Given the description of an element on the screen output the (x, y) to click on. 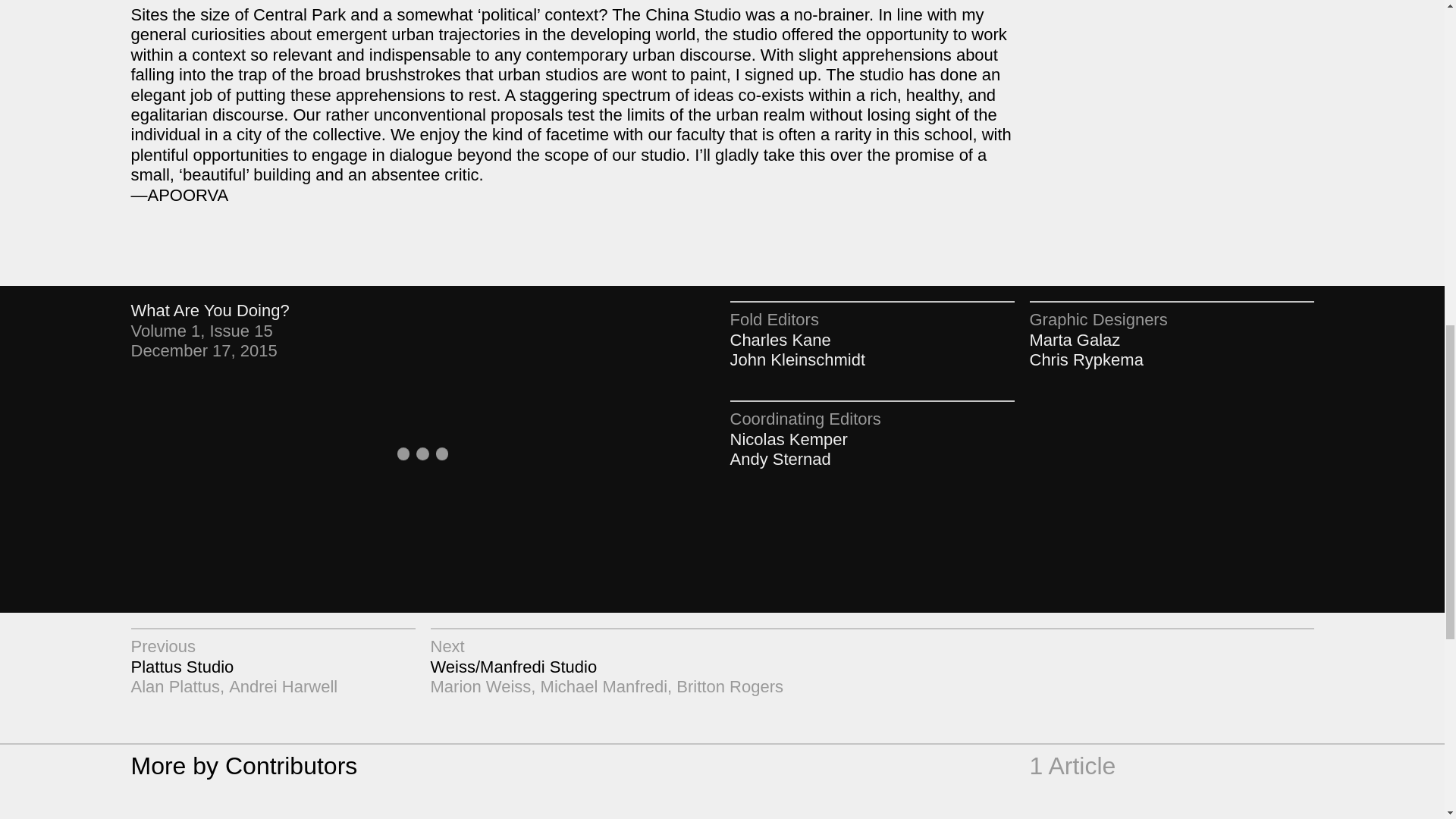
John Kleinschmidt (796, 359)
Marta Galaz (1075, 339)
Alan Plattus (175, 686)
Chris Rypkema (1085, 359)
Andy Sternad (779, 458)
Plattus Studio (181, 666)
What Are You Doing? (209, 310)
Charles Kane (779, 339)
Andrei Harwell (282, 686)
Nicolas Kemper (788, 438)
